Given the description of an element on the screen output the (x, y) to click on. 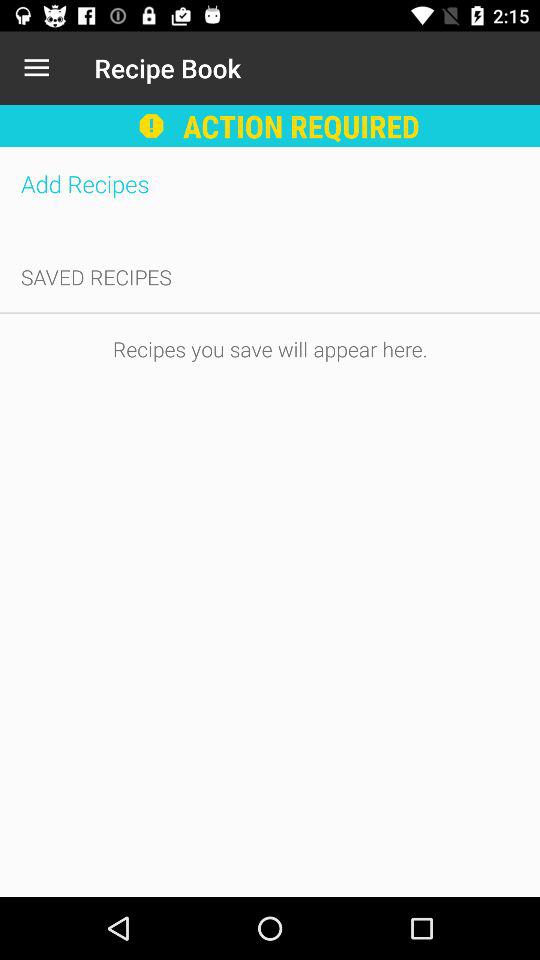
press the item next to recipe book icon (36, 68)
